Given the description of an element on the screen output the (x, y) to click on. 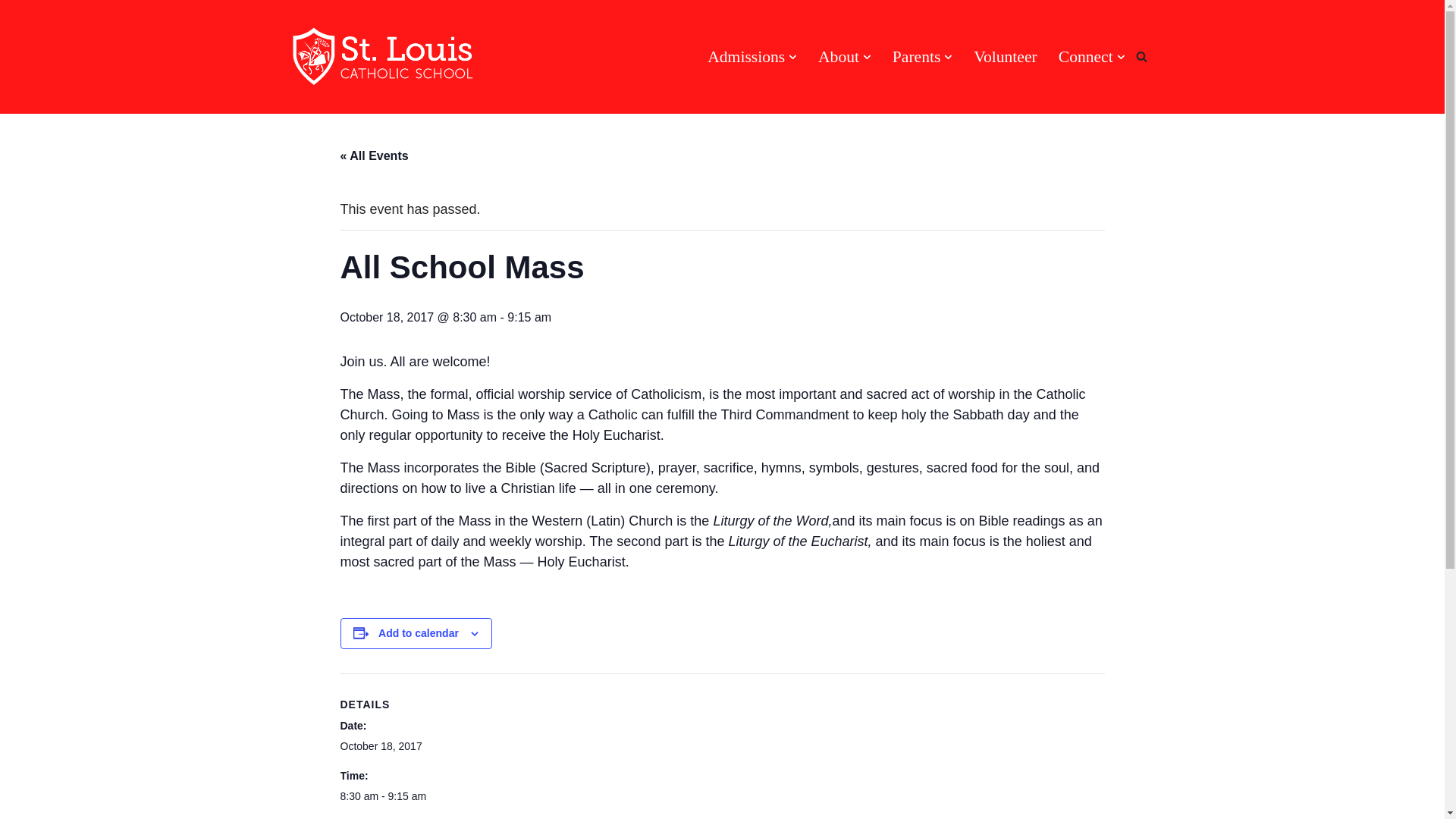
Parents (916, 56)
2017-10-18 (380, 746)
Volunteer (1005, 56)
Admissions (745, 56)
Skip to content (11, 31)
Connect (1085, 56)
About (838, 56)
2017-10-18 (403, 796)
